Given the description of an element on the screen output the (x, y) to click on. 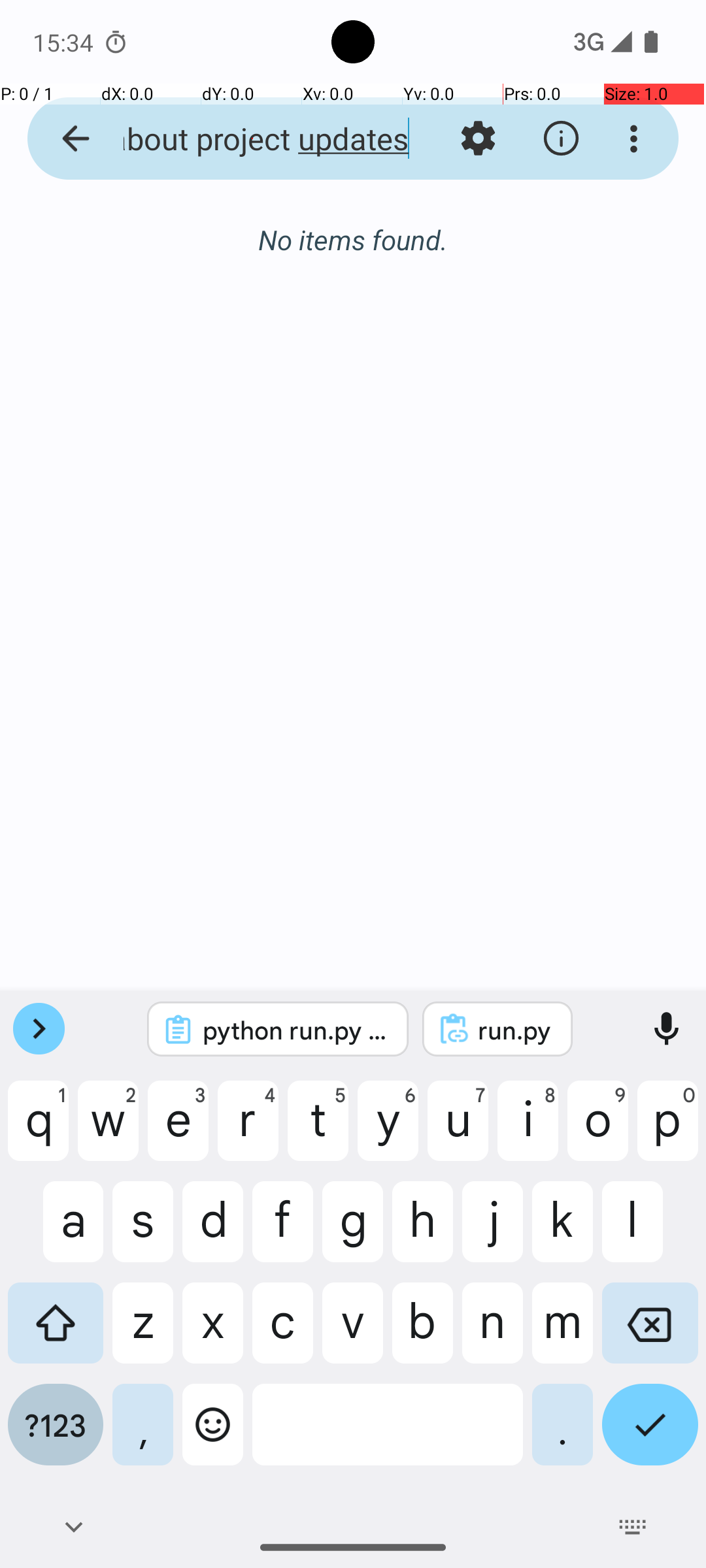
conversation about project updates Element type: android.widget.EditText (252, 138)
